Given the description of an element on the screen output the (x, y) to click on. 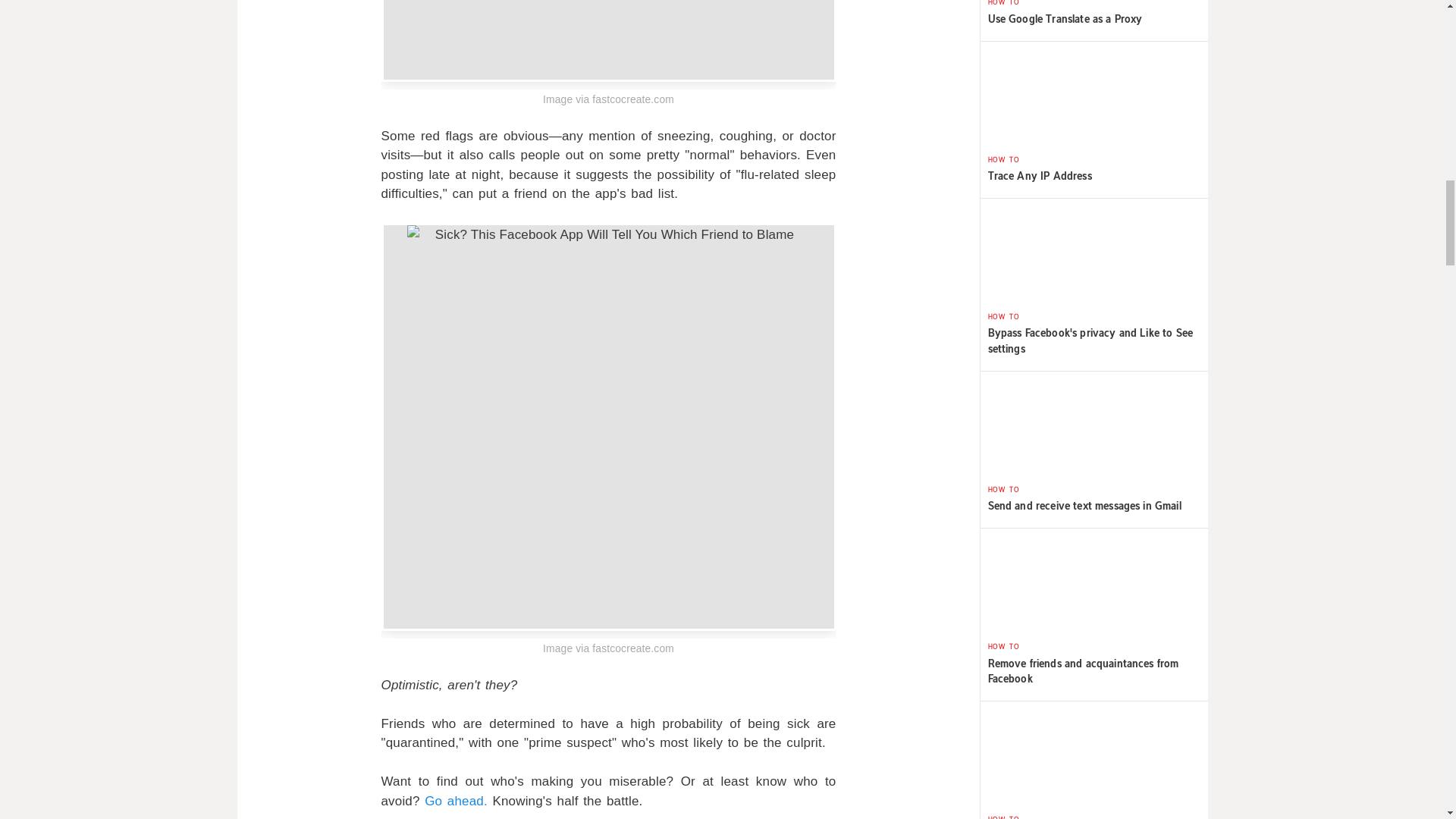
fastcocreate.com (633, 648)
Go ahead. (456, 800)
fastcocreate.com (633, 99)
